Given the description of an element on the screen output the (x, y) to click on. 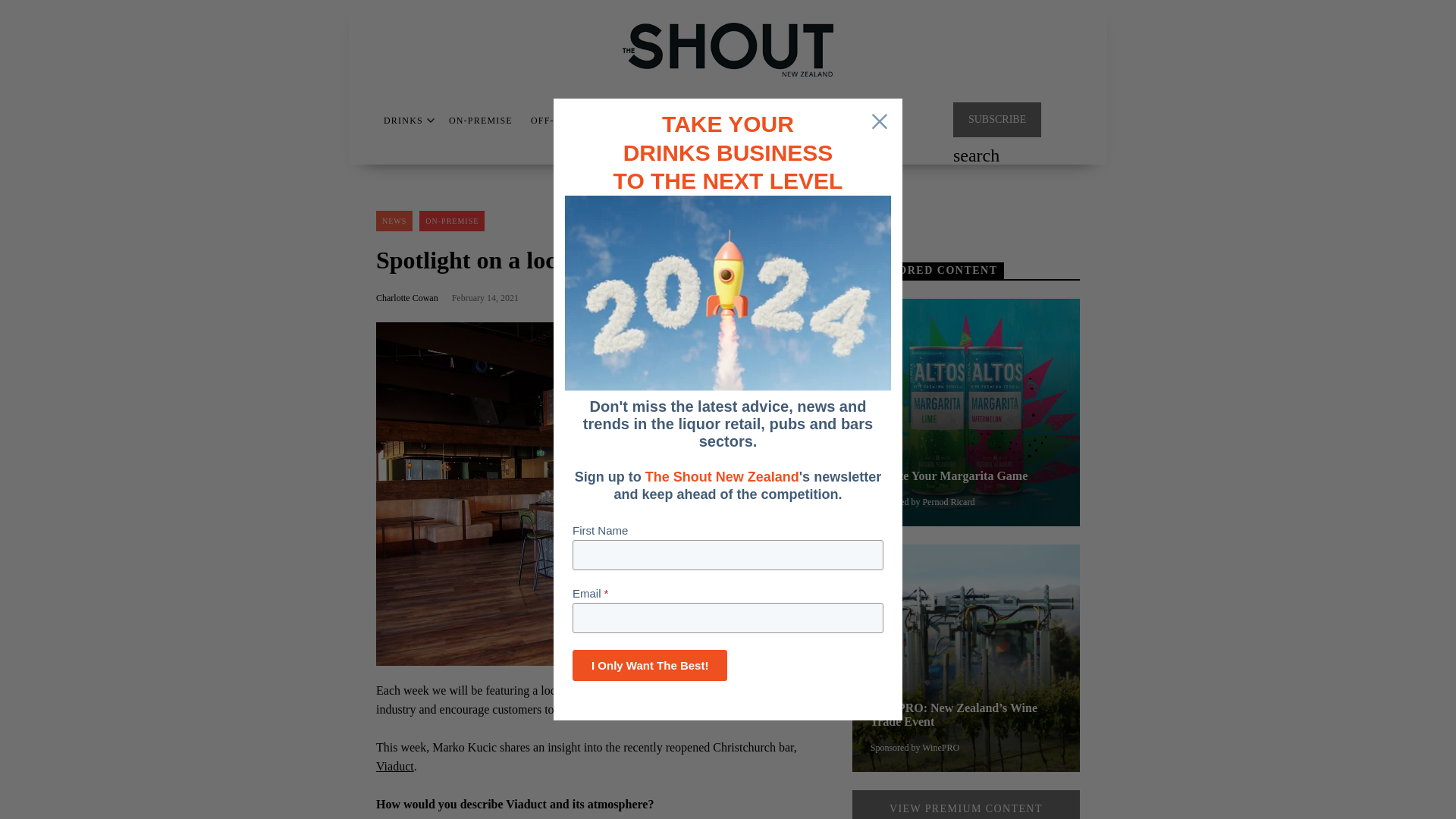
DRINKS (403, 120)
search (975, 156)
OFF-PREMISE (564, 120)
DIRECTORY (736, 120)
FOODSERVICE (820, 120)
SUBSCRIBE (997, 119)
BIG BRANDS (649, 120)
ON-PREMISE (480, 120)
